Given the description of an element on the screen output the (x, y) to click on. 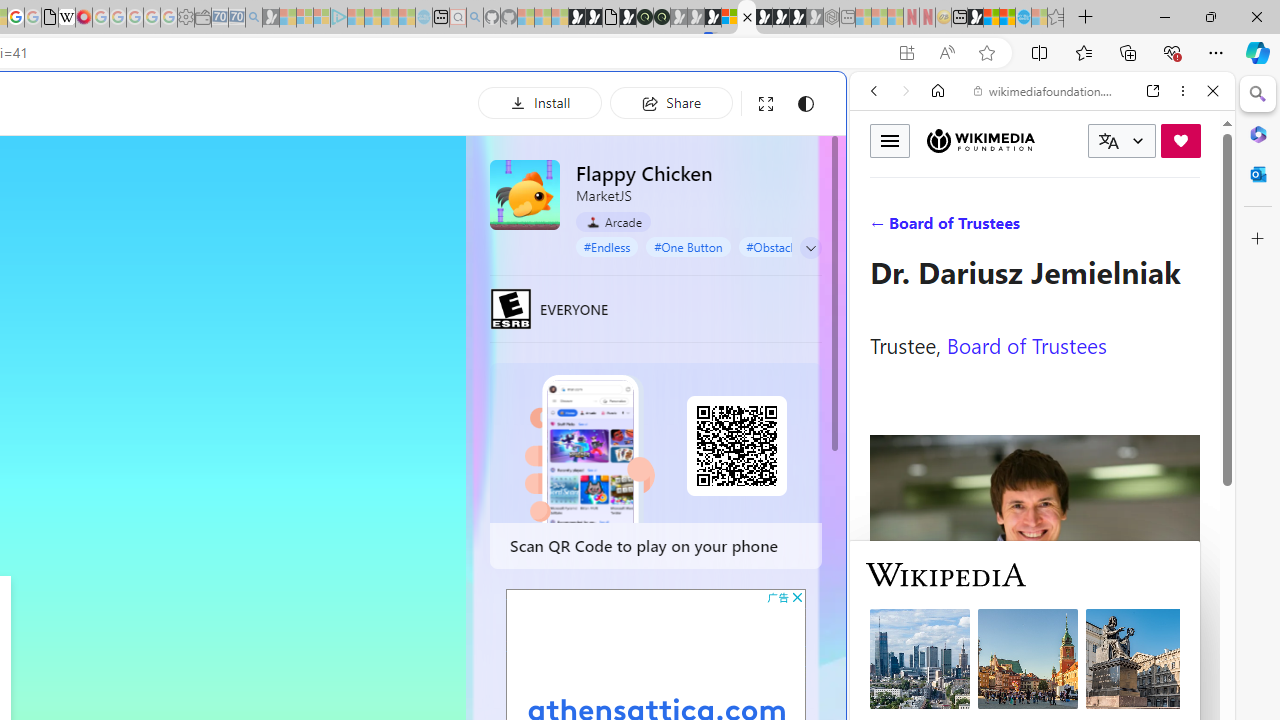
Search or enter web address (343, 191)
Share (671, 102)
More options (1182, 91)
Class: control (811, 248)
Board of Trustees (1026, 344)
Search (1258, 94)
Earth has six continents not seven, radical new study claims (1007, 17)
Microsoft Start Gaming - Sleeping (270, 17)
Future Focus Report 2024 (661, 17)
Wallet - Sleeping (202, 17)
Class: i icon icon-translate language-switcher__icon (1108, 141)
